Given the description of an element on the screen output the (x, y) to click on. 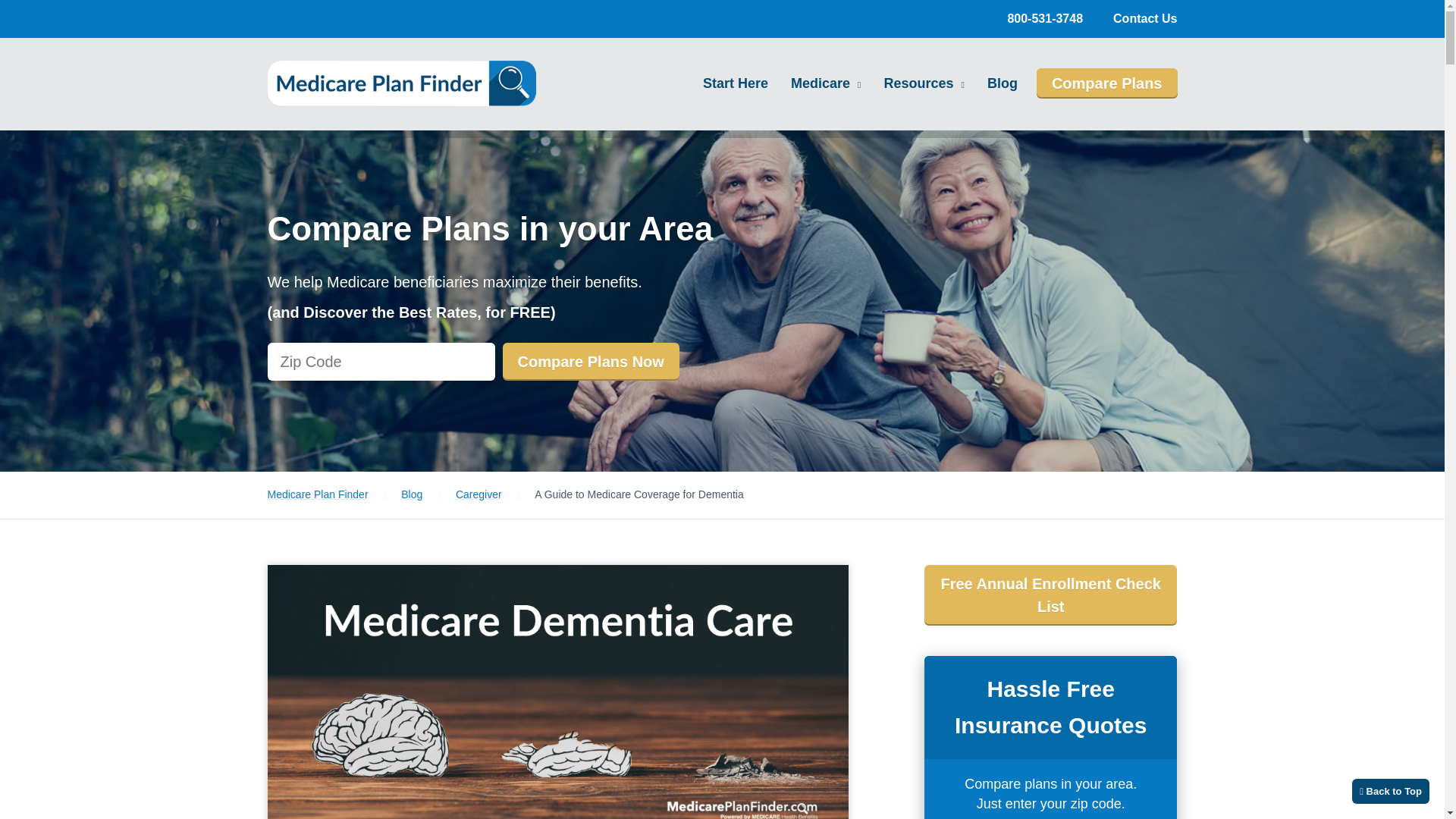
Go to Medicare Plan Finder. (317, 494)
Medicare (825, 83)
Go to Blog. (411, 494)
800-531-3748 (1045, 18)
Start Here (734, 82)
Compare Plans Now (590, 361)
Compare Plans Now (590, 361)
Compare Plans (1106, 82)
Contact Us (1144, 18)
Go to the Caregiver category archives. (478, 494)
Resources (923, 83)
Blog (1003, 82)
